Given the description of an element on the screen output the (x, y) to click on. 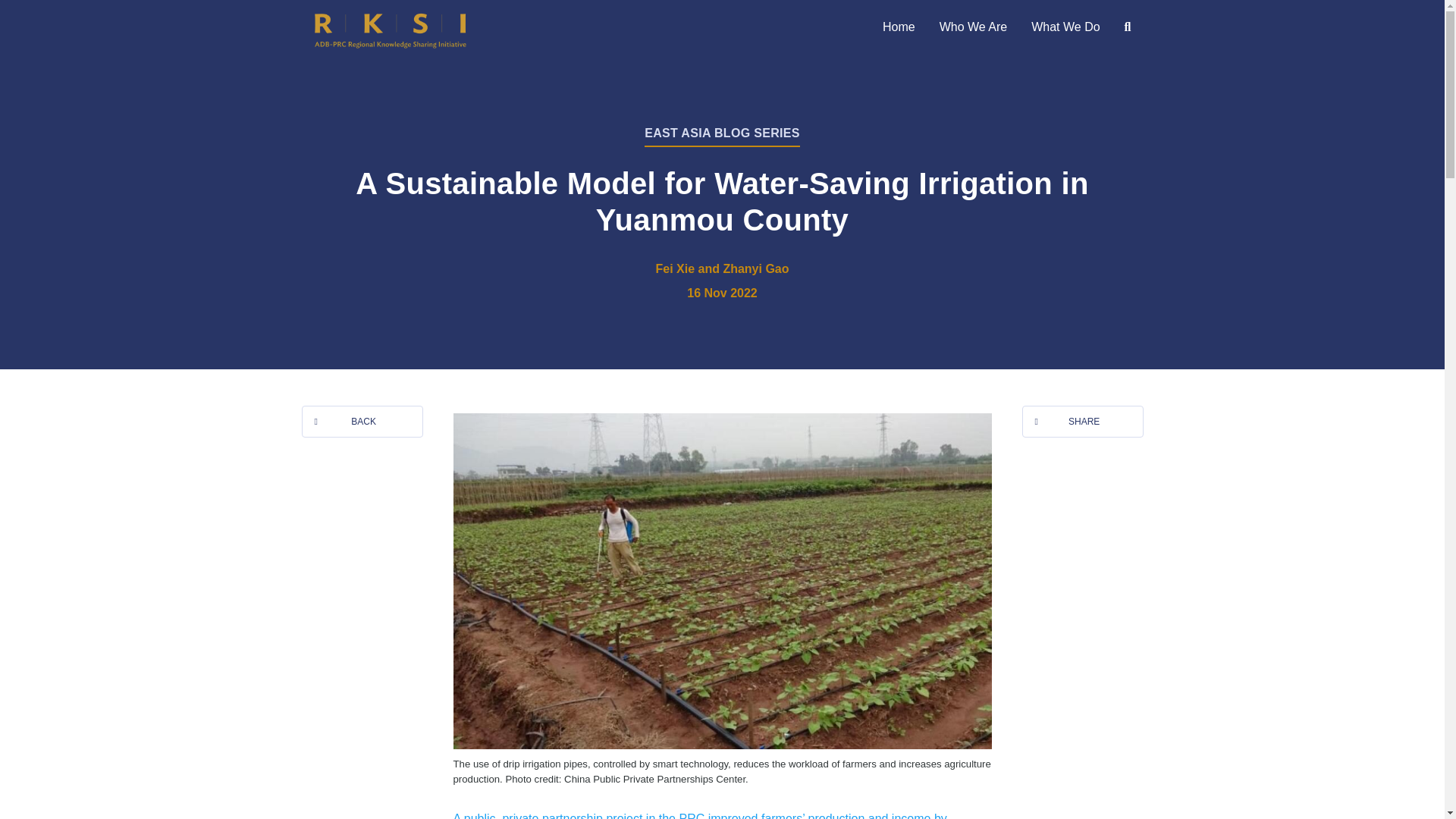
Who We Are (973, 27)
Home (898, 27)
What We Do (1065, 27)
